Given the description of an element on the screen output the (x, y) to click on. 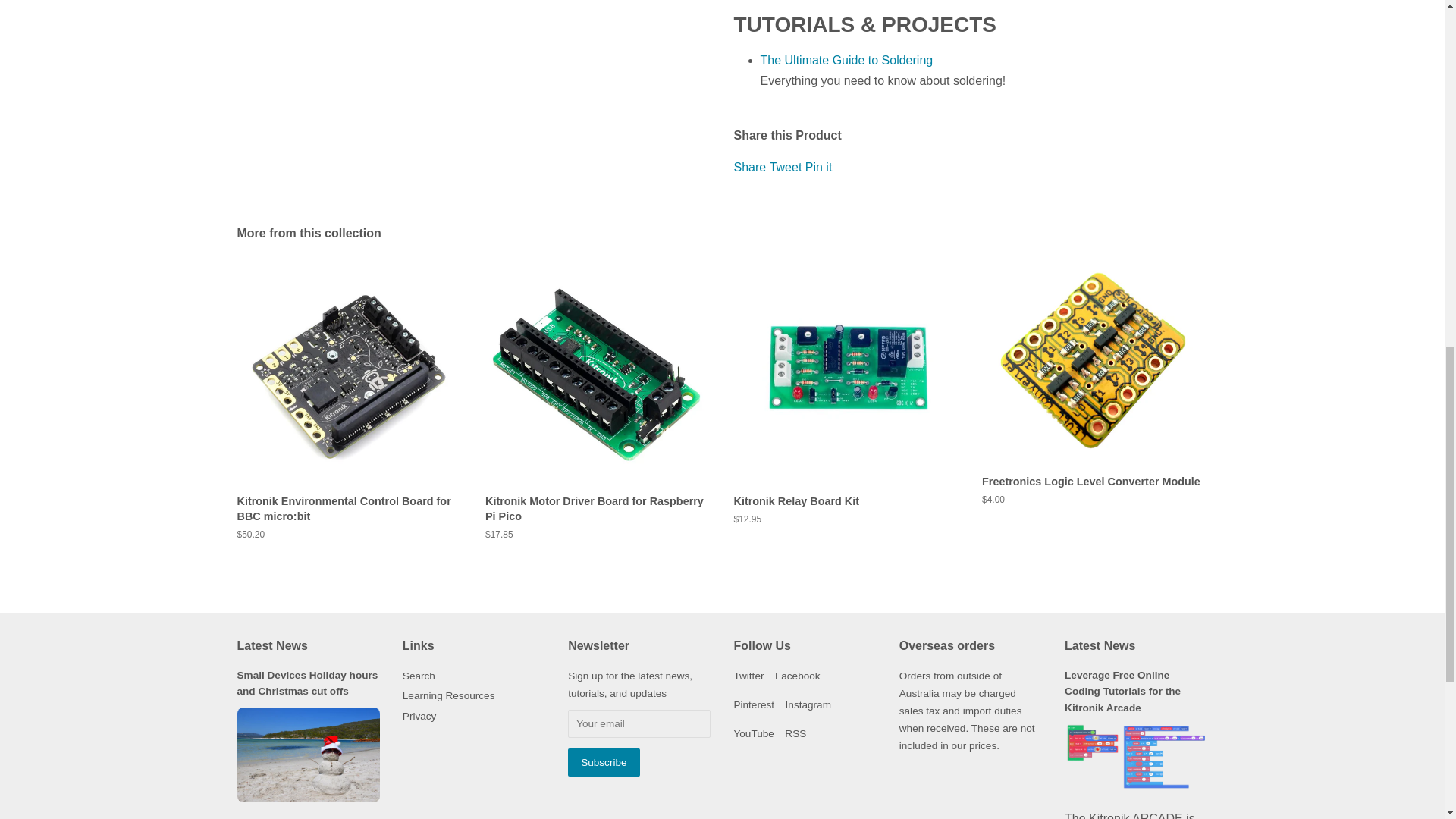
smalldevices on Instagram (808, 704)
smalldevices on Twitter (747, 675)
Pin on Pinterest (818, 166)
smalldevices on RSS (795, 733)
Tweet on Twitter (787, 166)
smalldevices on YouTube (753, 733)
smalldevices on Facebook (797, 675)
Share on Facebook (751, 166)
smalldevices on Pinterest (753, 704)
Subscribe (603, 762)
